Given the description of an element on the screen output the (x, y) to click on. 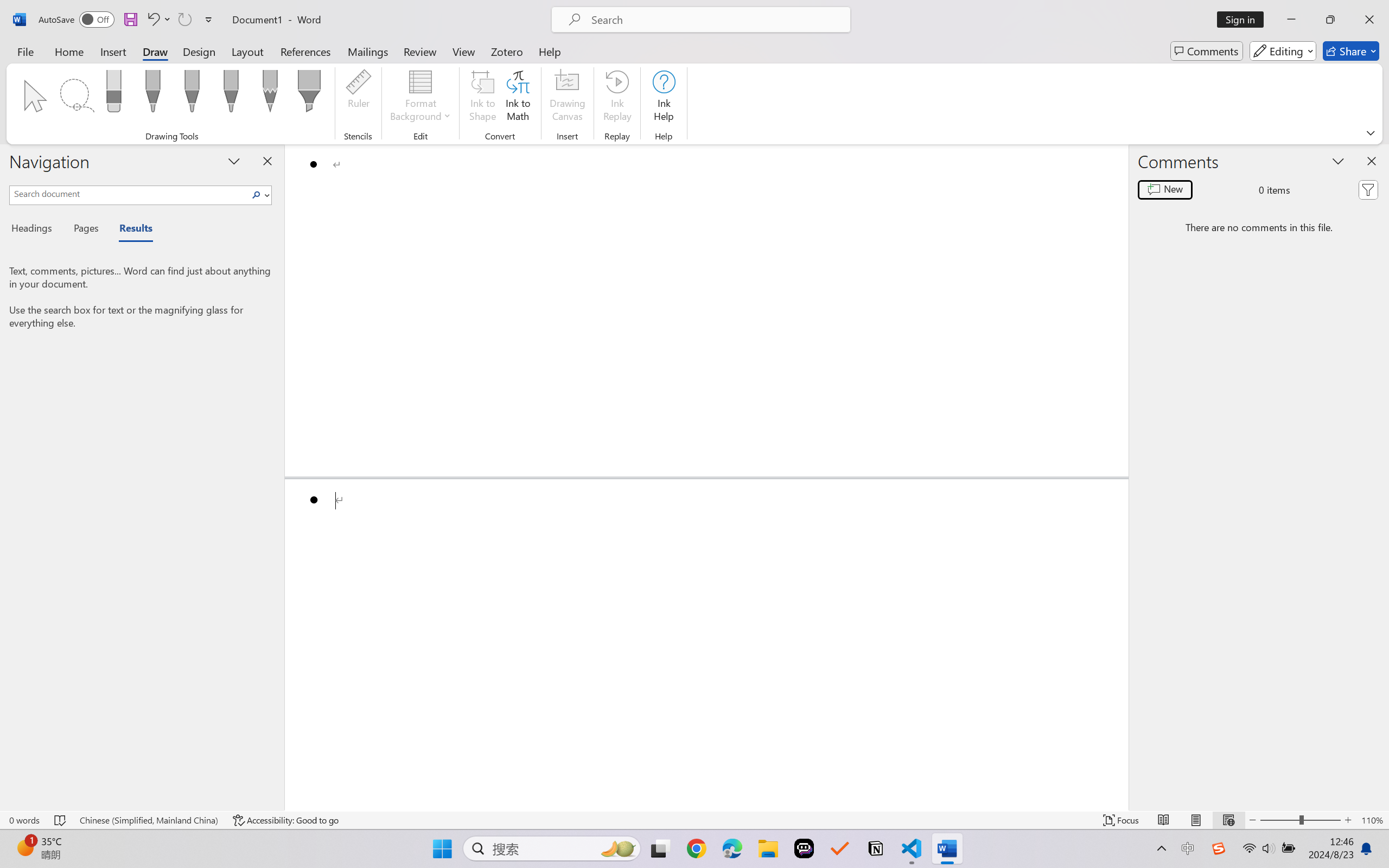
Pen: Galaxy, 1 mm (230, 94)
Undo Bullet Default (158, 19)
Drawing Canvas (567, 97)
Ink Help (663, 97)
New comment (1165, 189)
